Given the description of an element on the screen output the (x, y) to click on. 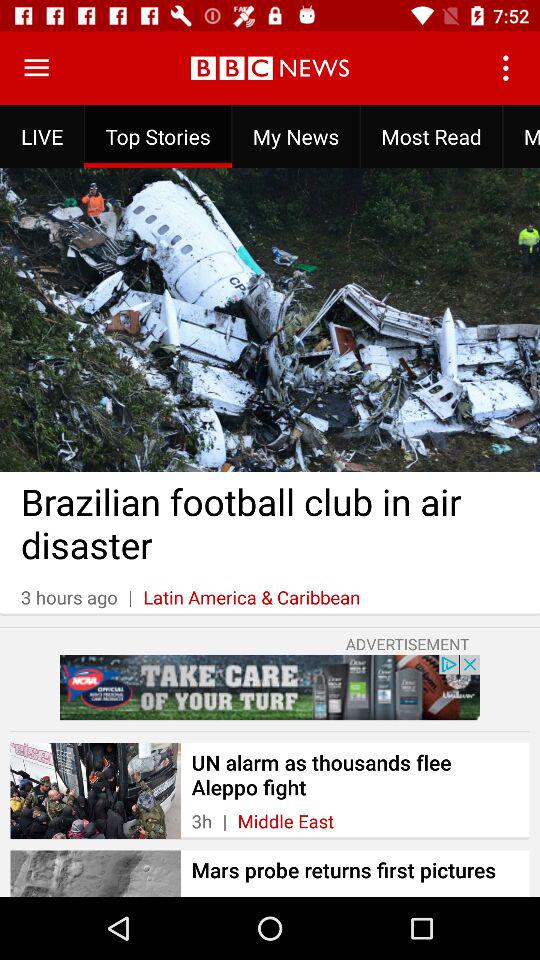
advertisement (270, 687)
